Given the description of an element on the screen output the (x, y) to click on. 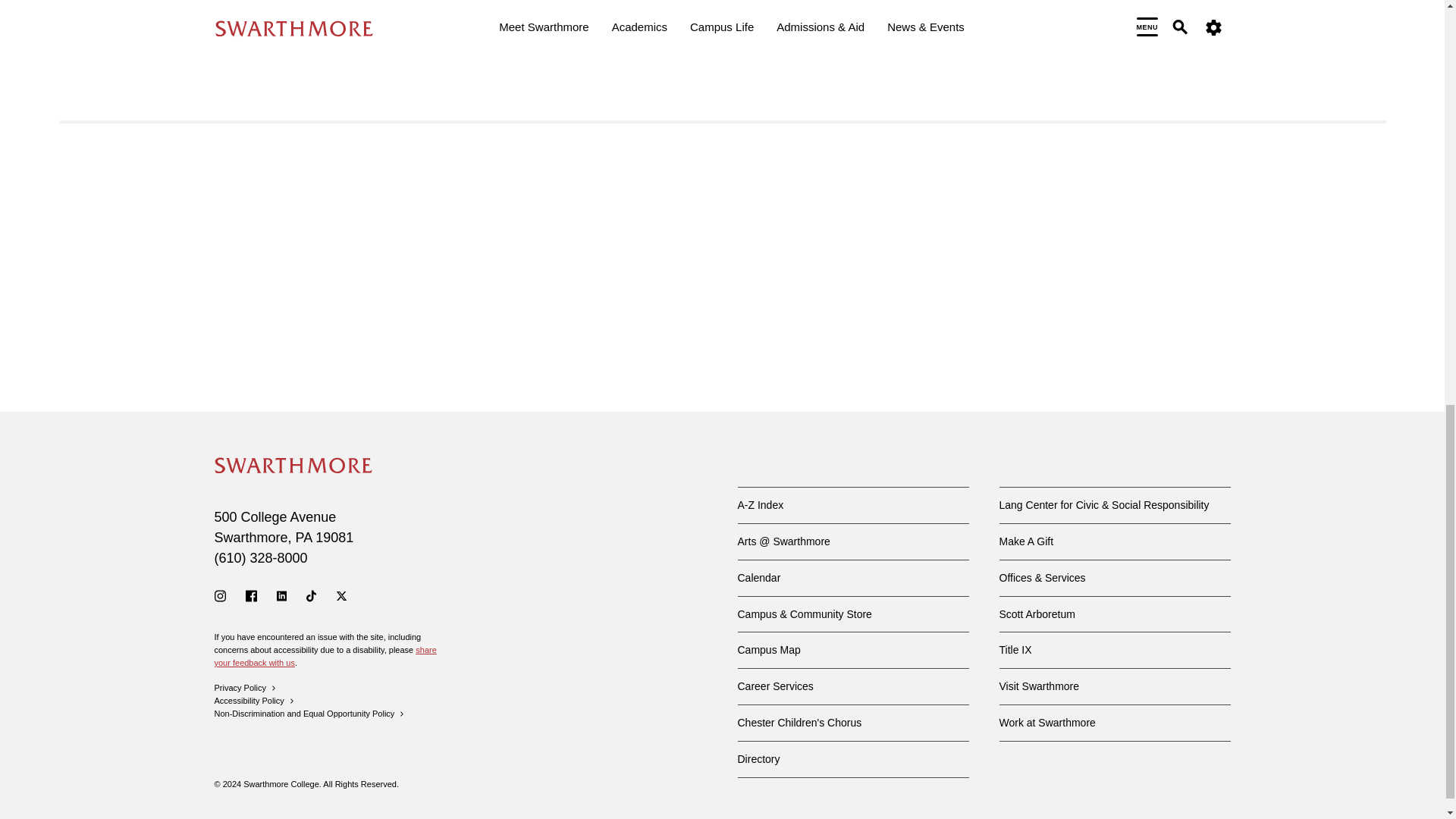
Pennsylvania (304, 537)
Swarthmore College - Home (292, 465)
Instagram (219, 595)
Facebook (251, 595)
